Given the description of an element on the screen output the (x, y) to click on. 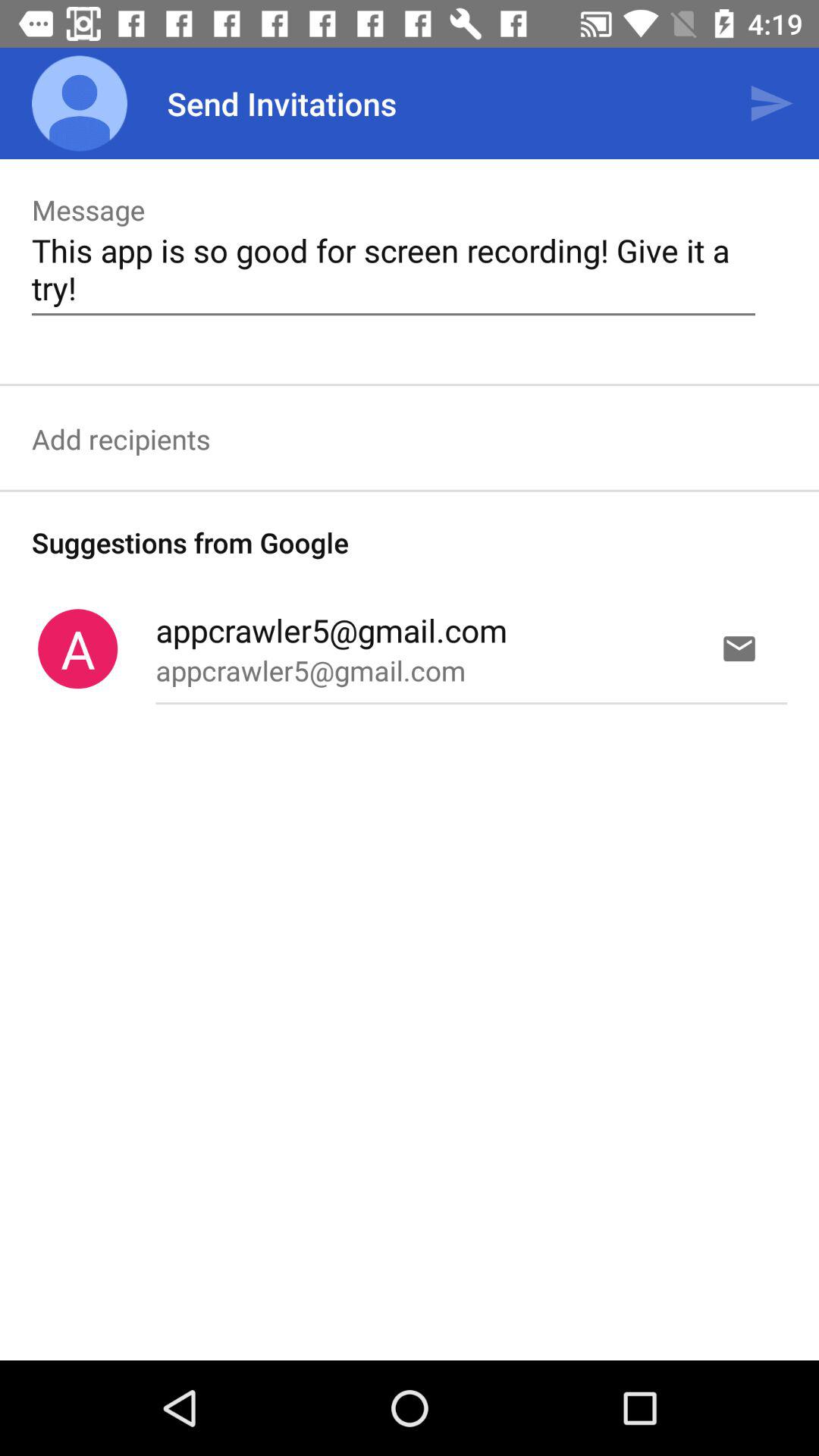
click item above the message (79, 103)
